Given the description of an element on the screen output the (x, y) to click on. 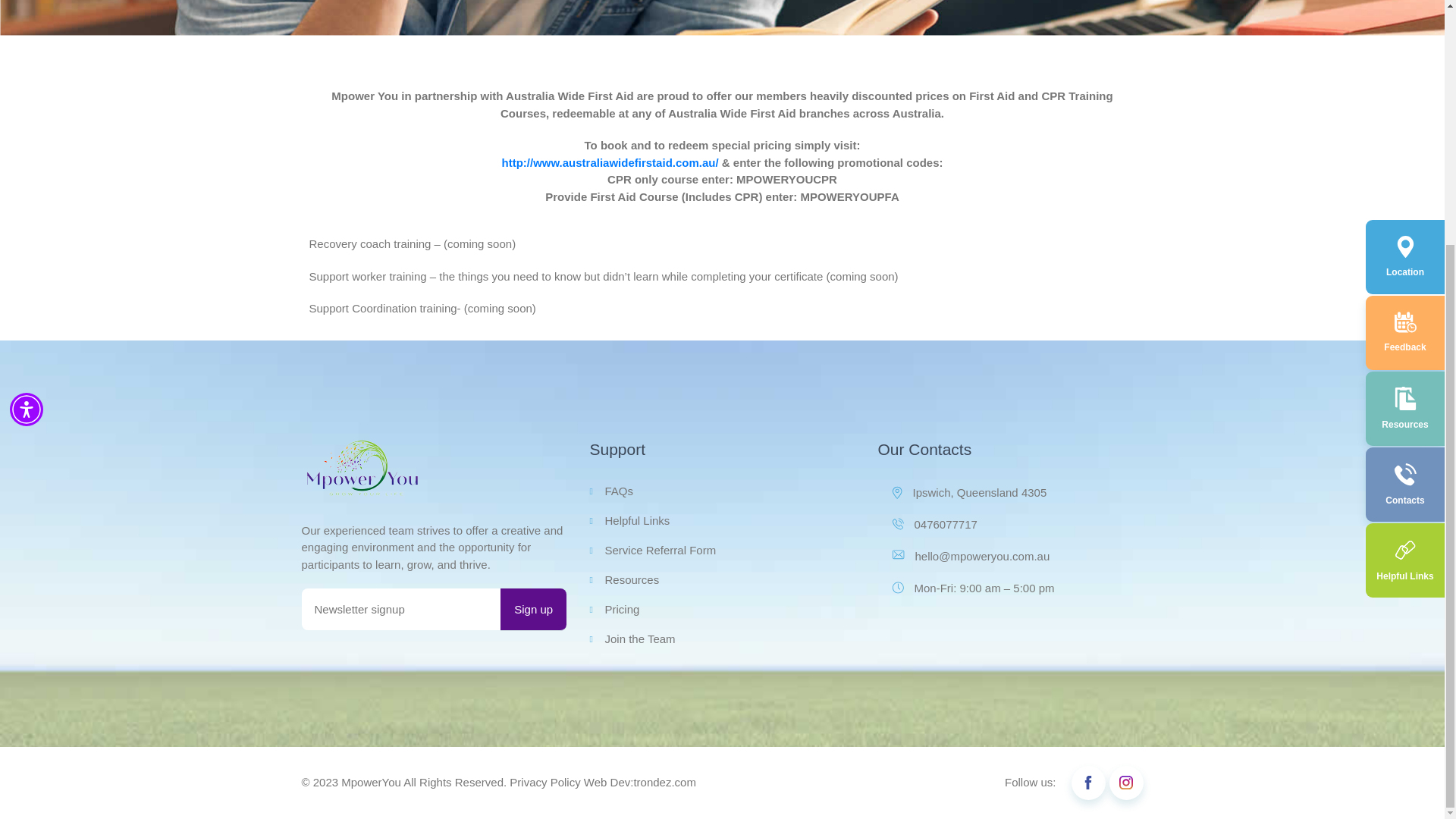
Instagram (1125, 782)
Sign up (533, 609)
Pricing (621, 609)
Facebook (1087, 782)
Join the Team (639, 638)
Ipswich, Queensland 4305 (1017, 492)
FAQs (618, 491)
Accessibility Menu (26, 68)
trondez.com (664, 782)
Mpower You (362, 468)
Privacy Policy (544, 782)
Helpful Links (636, 520)
Service Referral Form (660, 550)
Resources (631, 579)
0476077717 (1017, 524)
